Given the description of an element on the screen output the (x, y) to click on. 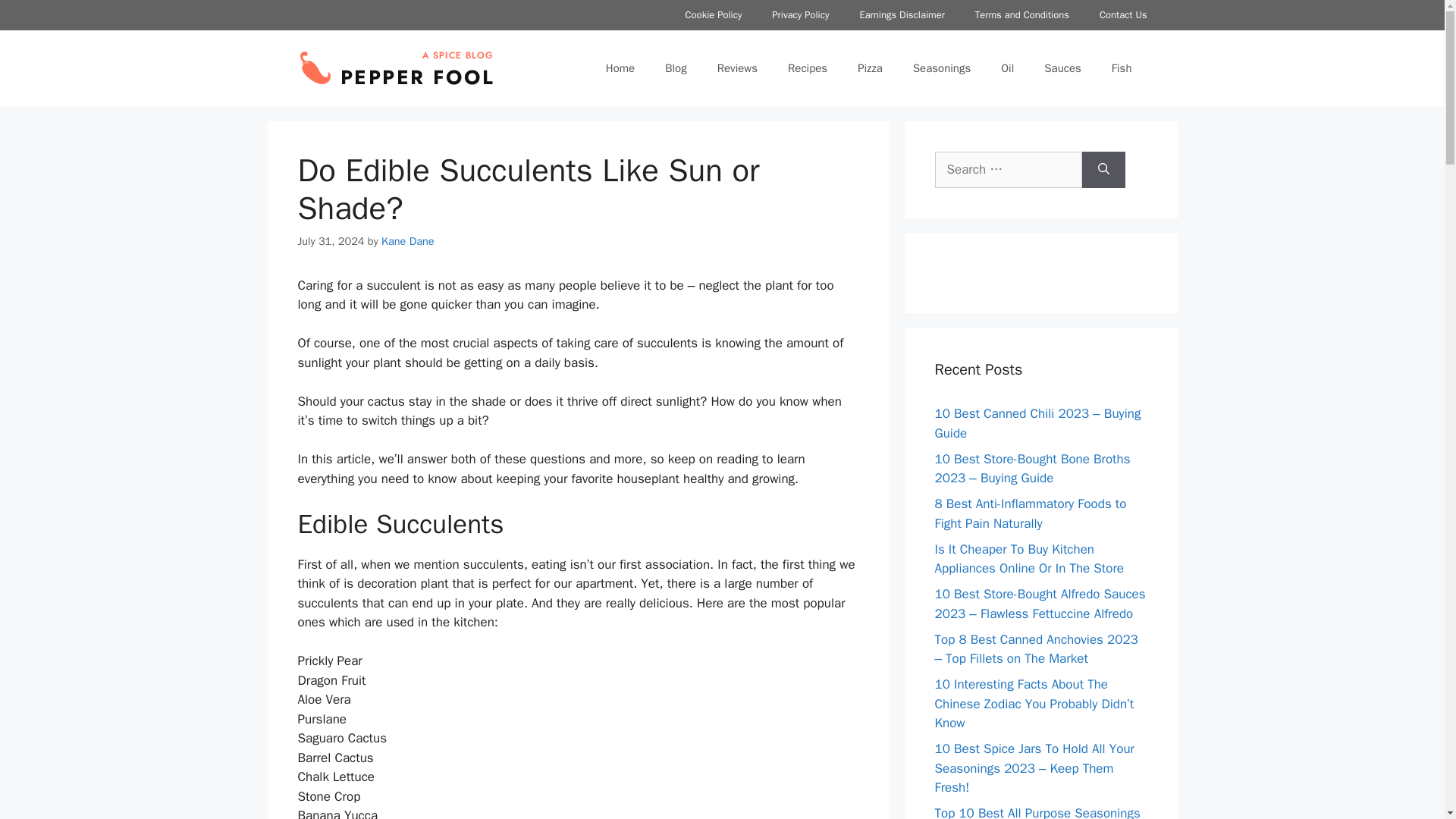
Pizza (870, 67)
Fish (1121, 67)
Blog (675, 67)
Contact Us (1122, 15)
View all posts by Kane Dane (407, 241)
Cookie Policy (713, 15)
Home (620, 67)
Privacy Policy (800, 15)
Kane Dane (407, 241)
